Given the description of an element on the screen output the (x, y) to click on. 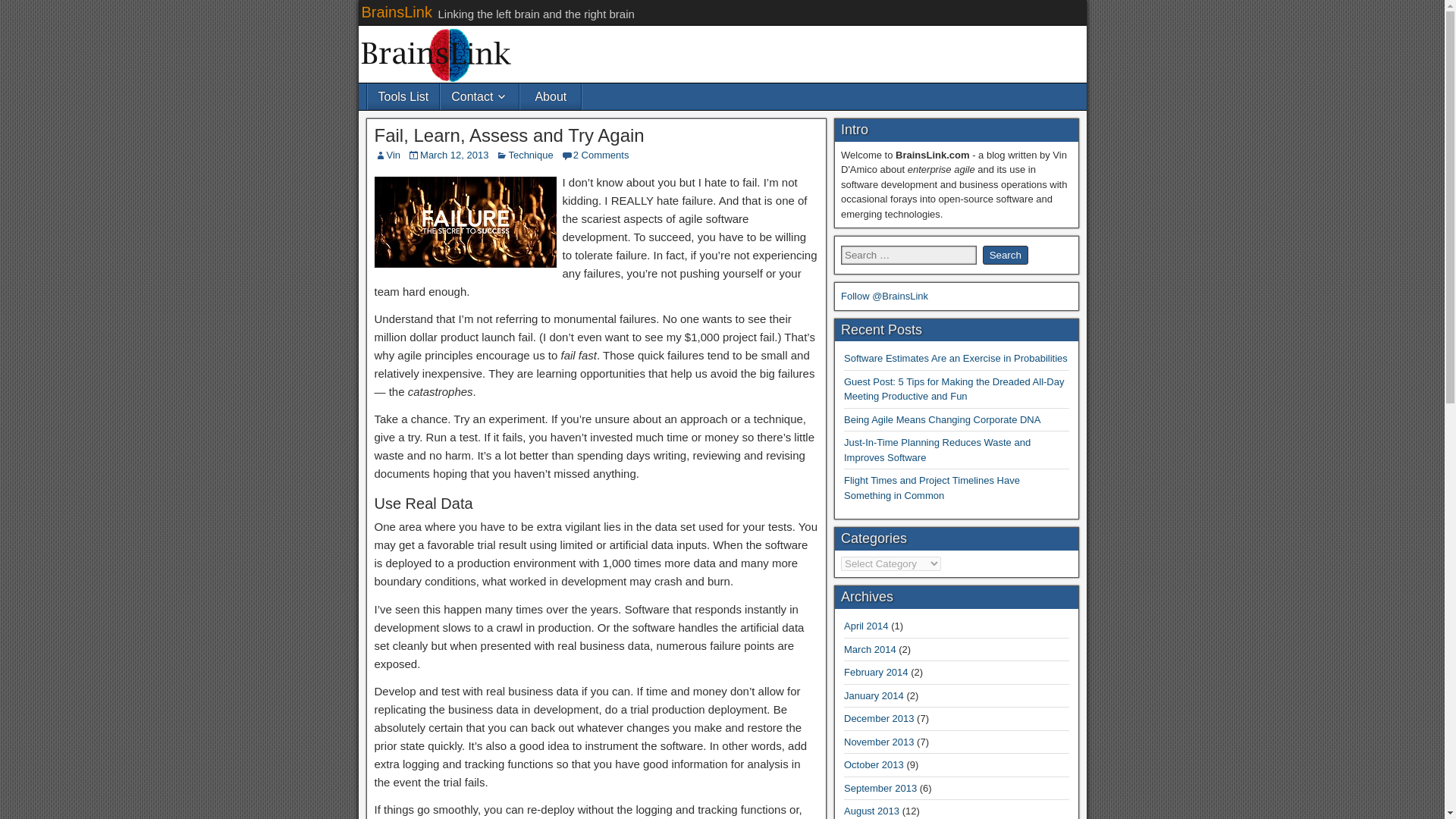
August 2013 (871, 810)
Vin (394, 154)
December 2013 (879, 717)
Tools List (402, 96)
September 2013 (880, 787)
Contact (479, 96)
Technique (530, 154)
April 2014 (866, 625)
Flight Times and Project Timelines Have Something in Common (932, 488)
About (549, 96)
February 2014 (876, 672)
Search (1004, 254)
March 2014 (870, 649)
October 2013 (874, 764)
